Given the description of an element on the screen output the (x, y) to click on. 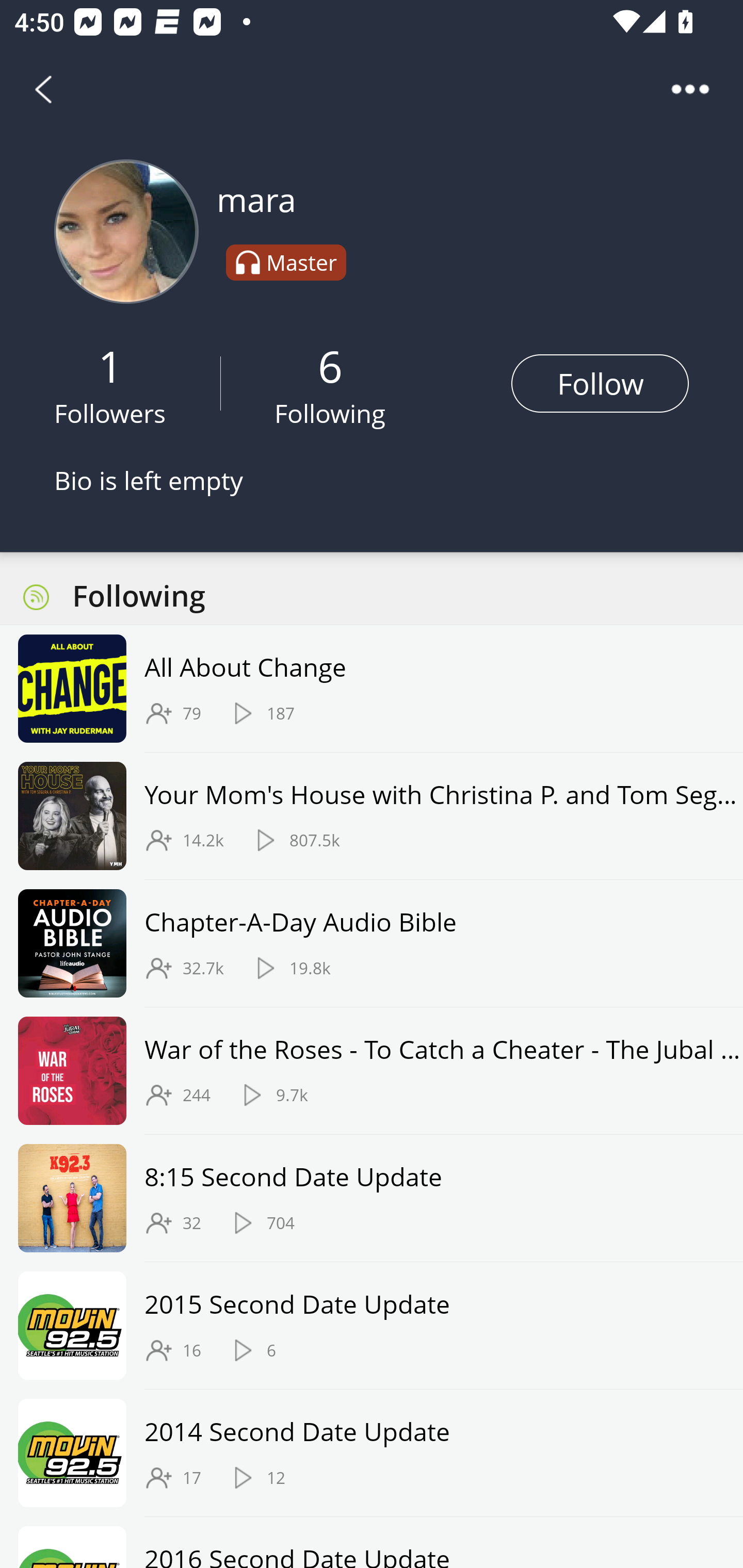
1 (110, 365)
6 (330, 365)
Follow (599, 383)
Followers (110, 413)
Following (329, 413)
All About Change 79 187 (371, 688)
Chapter-A-Day Audio Bible 32.7k 19.8k (371, 942)
8:15 Second Date Update 32 704 (371, 1198)
2015 Second Date Update 16 6 (371, 1325)
2014 Second Date Update 17 12 (371, 1452)
